Given the description of an element on the screen output the (x, y) to click on. 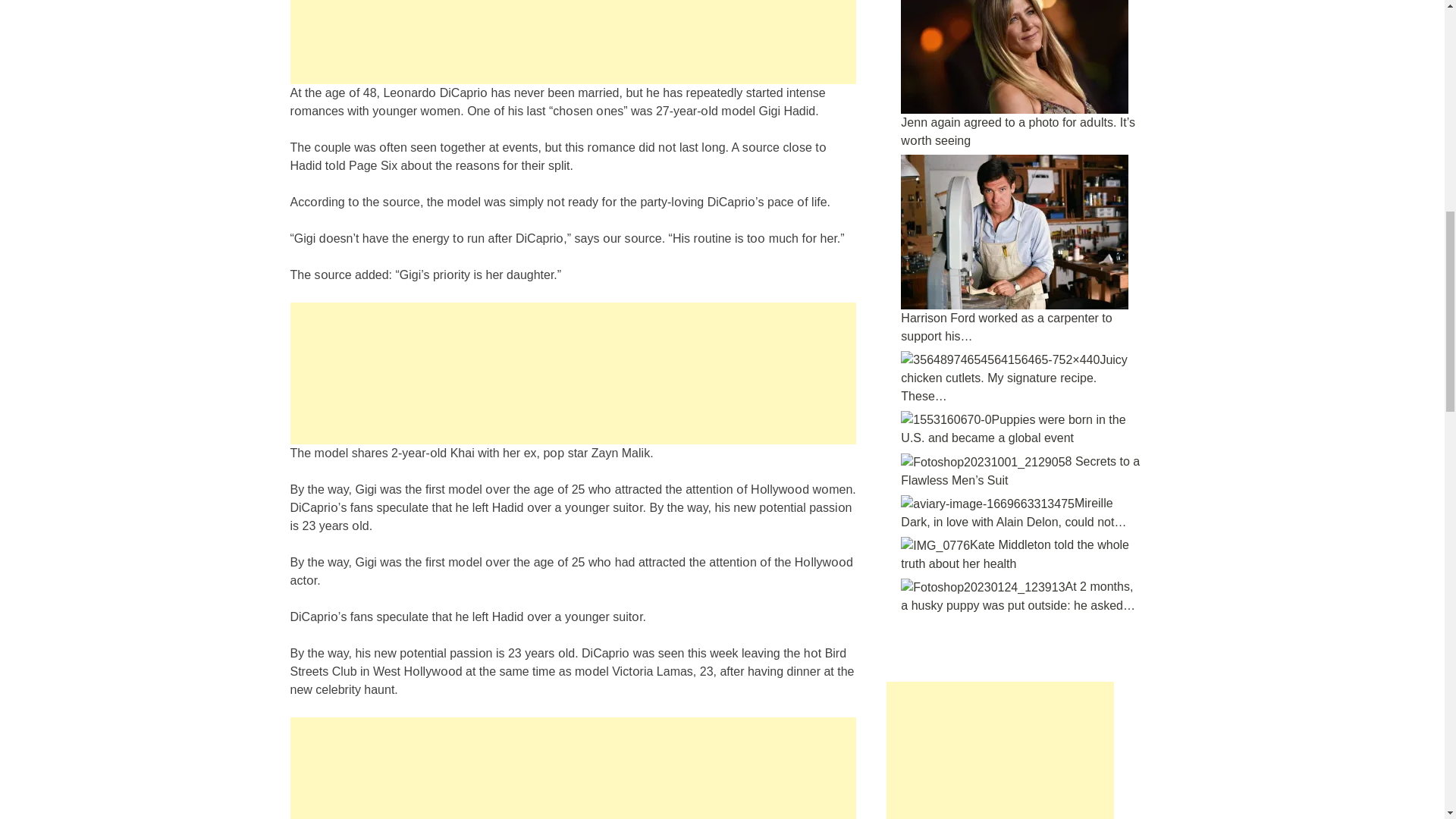
Puppies were born in the U.S. and became a global event (946, 420)
8 Secrets to a Flawless Men's Suit (982, 462)
